Given the description of an element on the screen output the (x, y) to click on. 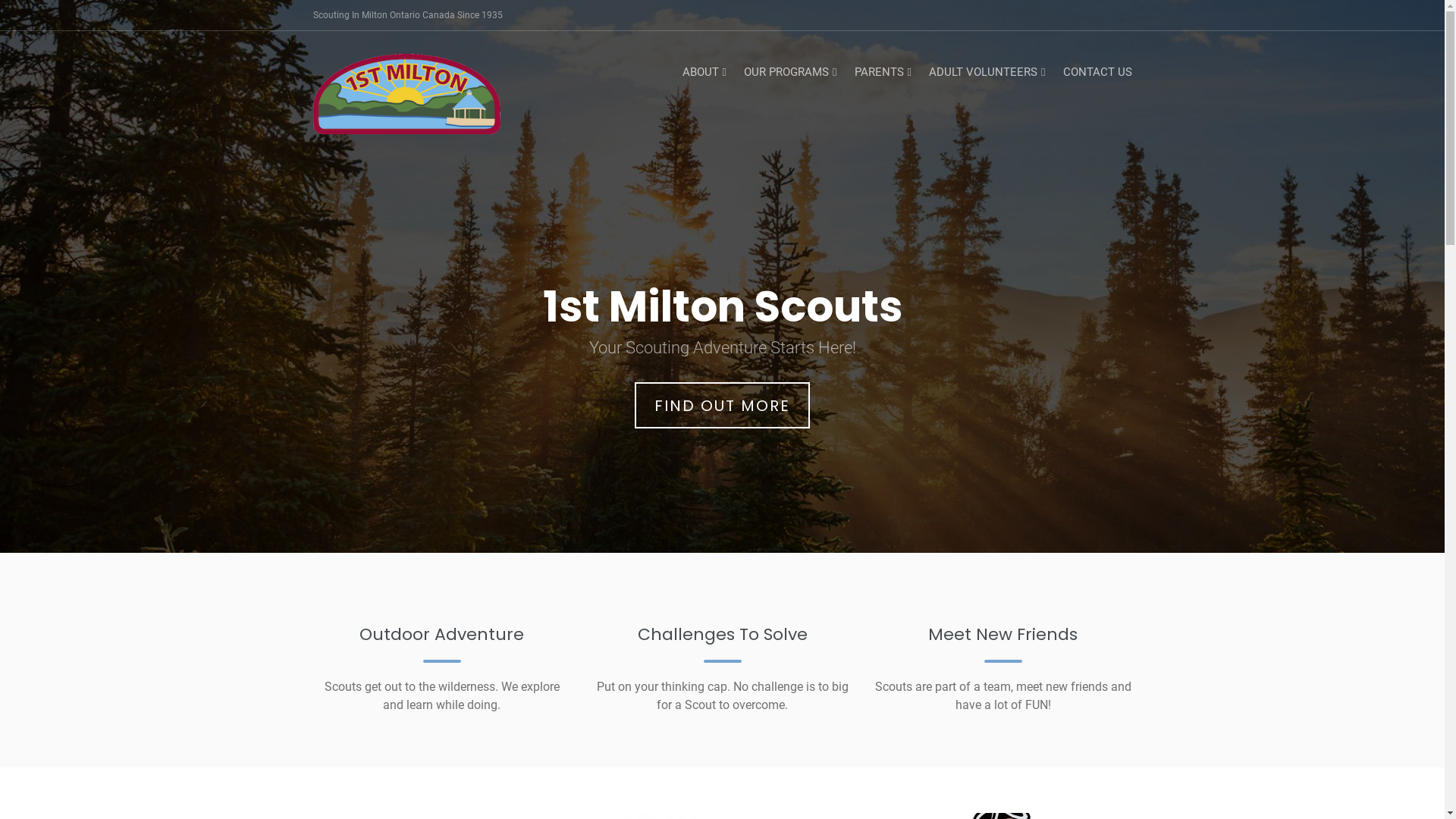
CONTACT US Element type: text (1097, 71)
ADULT VOLUNTEERS Element type: text (987, 71)
PARENTS Element type: text (883, 71)
OUR PROGRAMS Element type: text (790, 71)
FIND OUT MORE Element type: text (721, 405)
ABOUT Element type: text (705, 71)
